Given the description of an element on the screen output the (x, y) to click on. 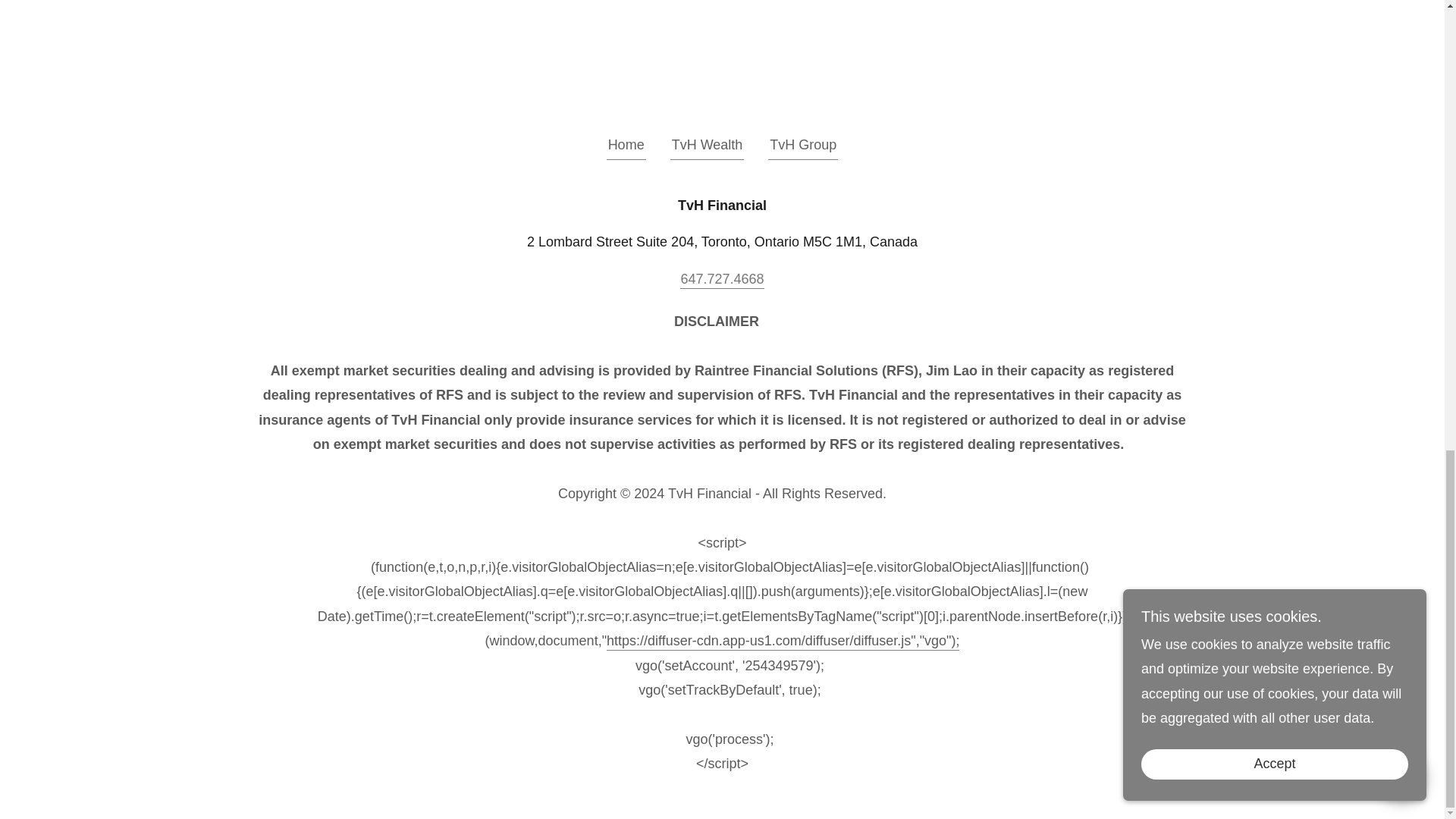
647.727.4668 (720, 280)
TvH Wealth (706, 147)
TvH Group (803, 147)
Home (626, 147)
